Given the description of an element on the screen output the (x, y) to click on. 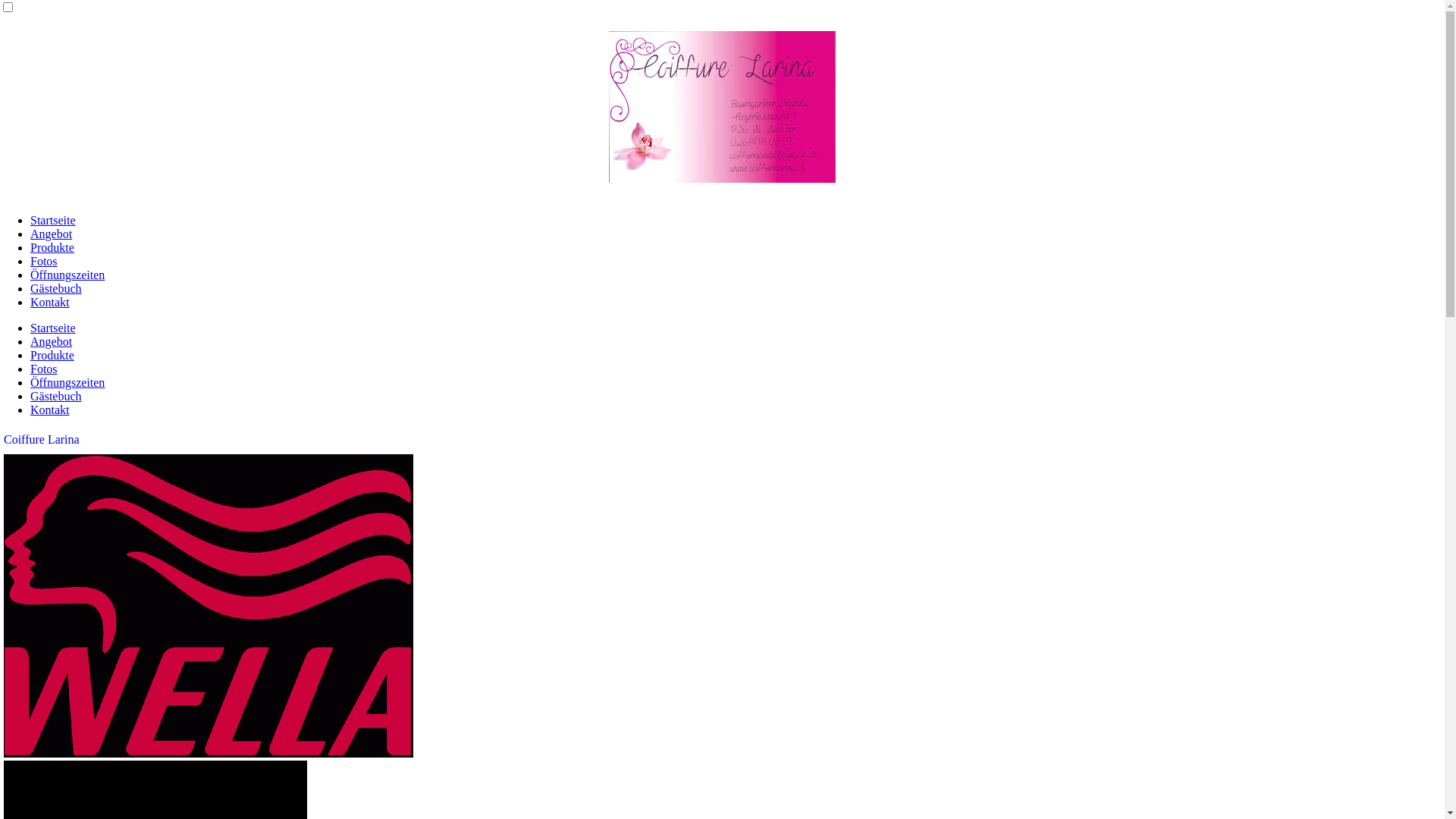
Fotos Element type: text (43, 368)
Fotos Element type: text (43, 260)
Startseite Element type: text (52, 219)
Coiffure Larina Element type: text (41, 439)
Angebot Element type: text (51, 233)
Startseite Element type: text (52, 327)
Kontakt Element type: text (49, 301)
Produkte Element type: text (52, 247)
Kontakt Element type: text (49, 409)
Produkte Element type: text (52, 354)
Angebot Element type: text (51, 341)
